Given the description of an element on the screen output the (x, y) to click on. 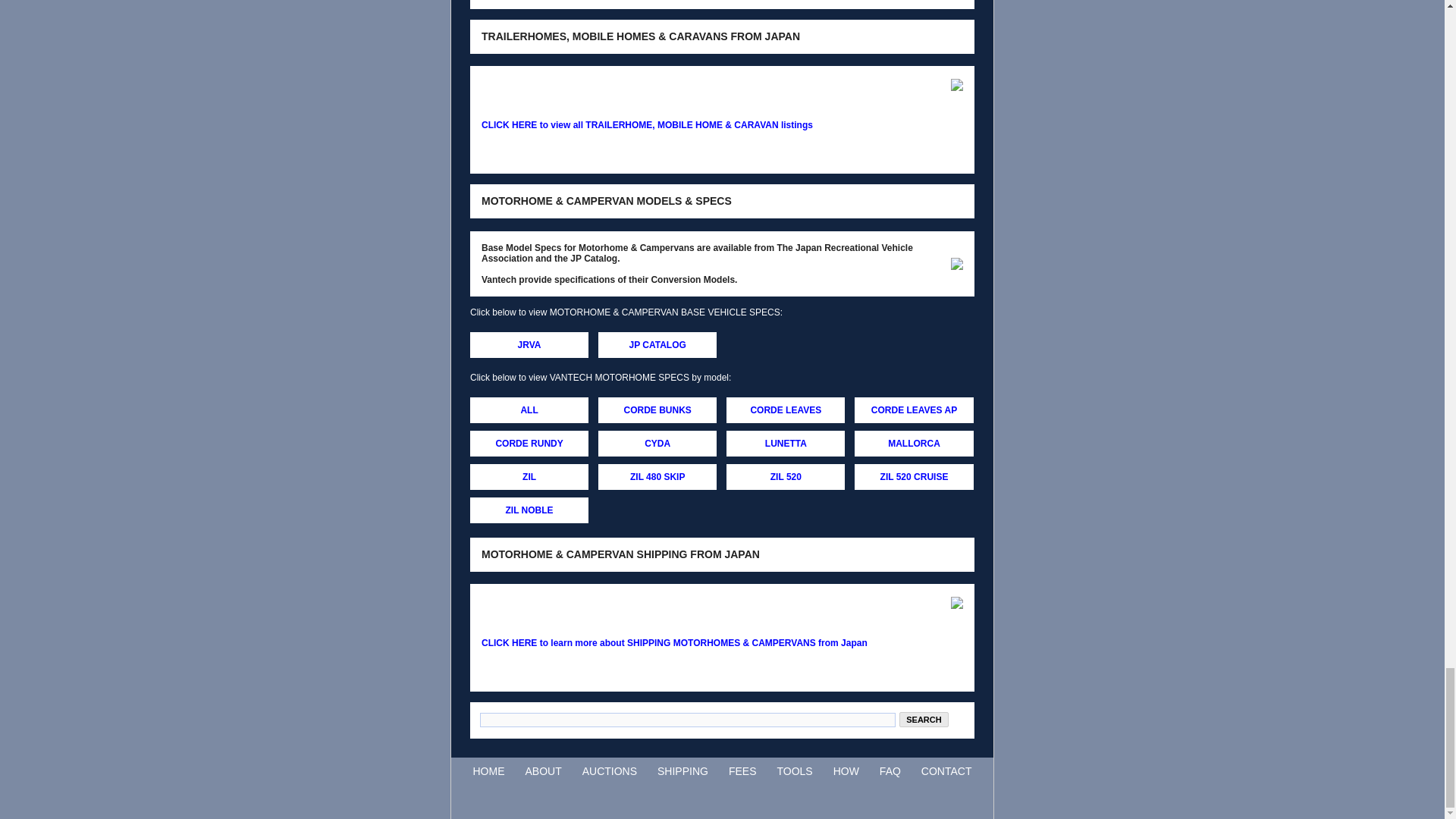
clear results (956, 719)
Search TS EXPORT (687, 719)
Search (923, 719)
Search (923, 719)
Search TS EXPORT (923, 719)
